Given the description of an element on the screen output the (x, y) to click on. 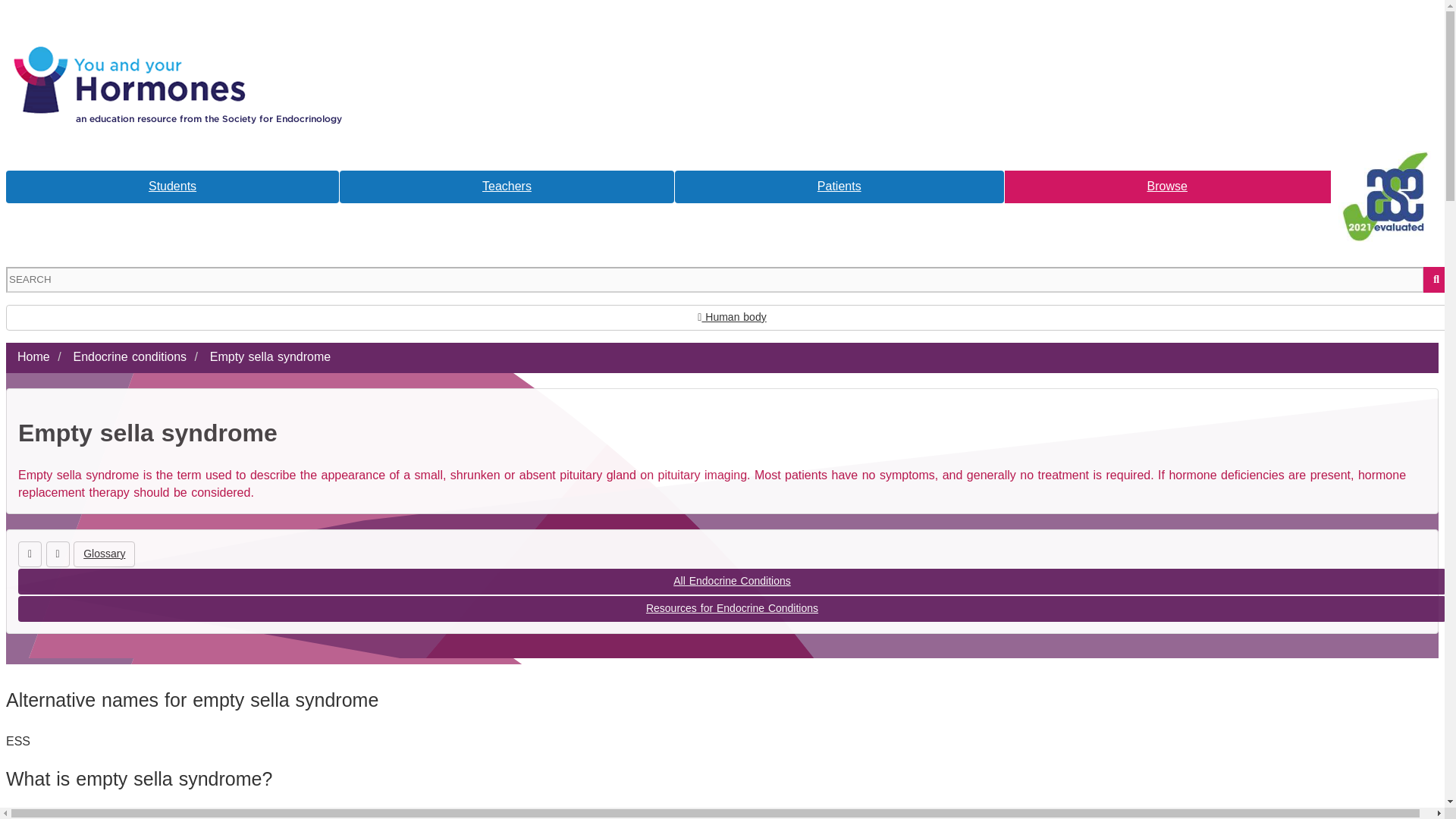
Resources for Endocrine Conditions (731, 608)
Endometrial cancer (57, 554)
Teachers (506, 186)
Patients (839, 186)
Endocrine conditions (129, 356)
Outreach Opportunities (900, 29)
About (180, 29)
Empty sella syndrome (269, 356)
Glossary (104, 554)
Contact (533, 29)
